Given the description of an element on the screen output the (x, y) to click on. 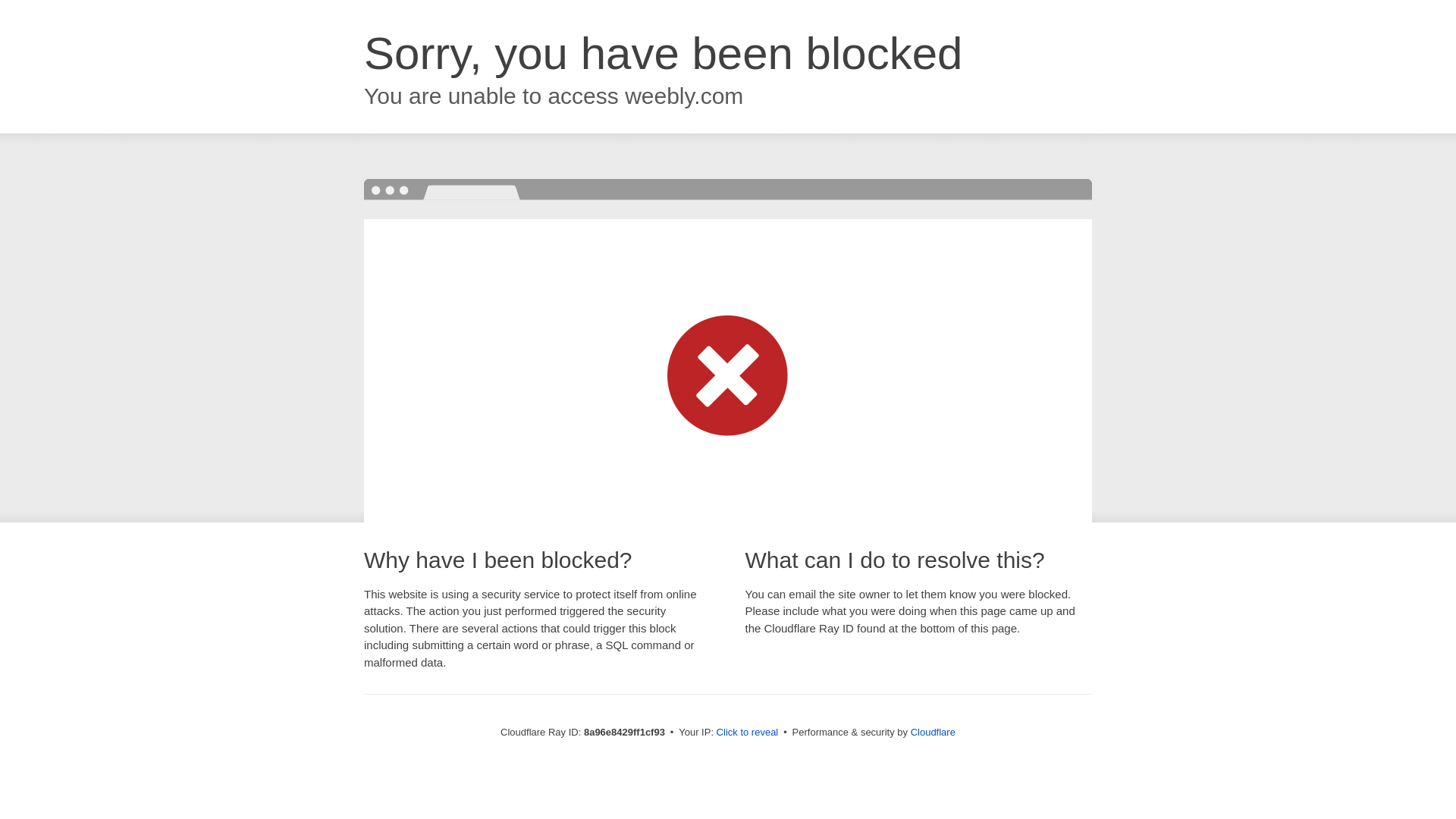
Cloudflare (933, 731)
Click to reveal (747, 732)
